Given the description of an element on the screen output the (x, y) to click on. 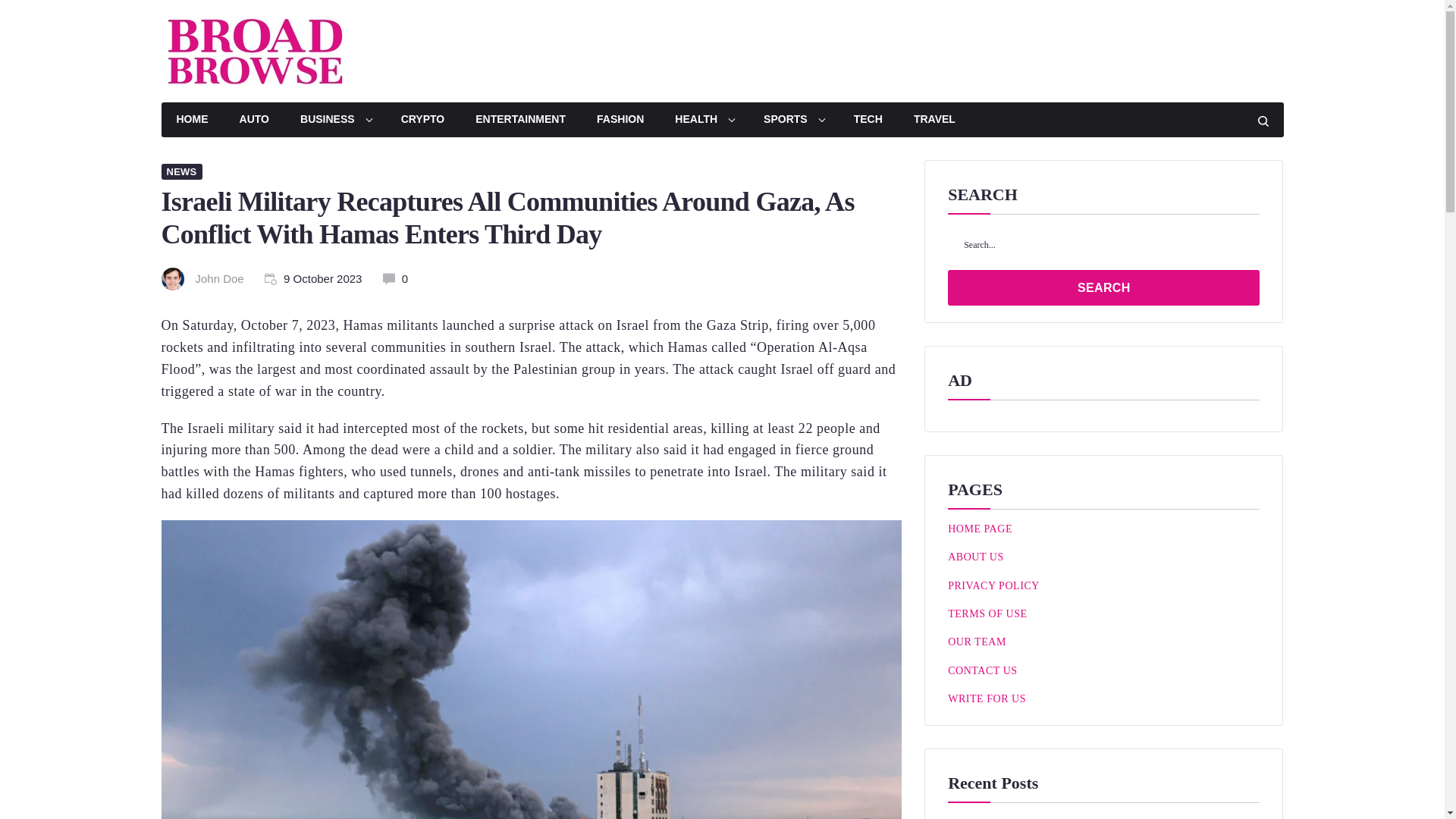
BUSINESS (335, 119)
HOME (191, 119)
SPORTS (793, 119)
ENTERTAINMENT (520, 119)
TECH (868, 119)
AUTO (253, 119)
FASHION (619, 119)
HEALTH (703, 119)
TRAVEL (934, 119)
